Given the description of an element on the screen output the (x, y) to click on. 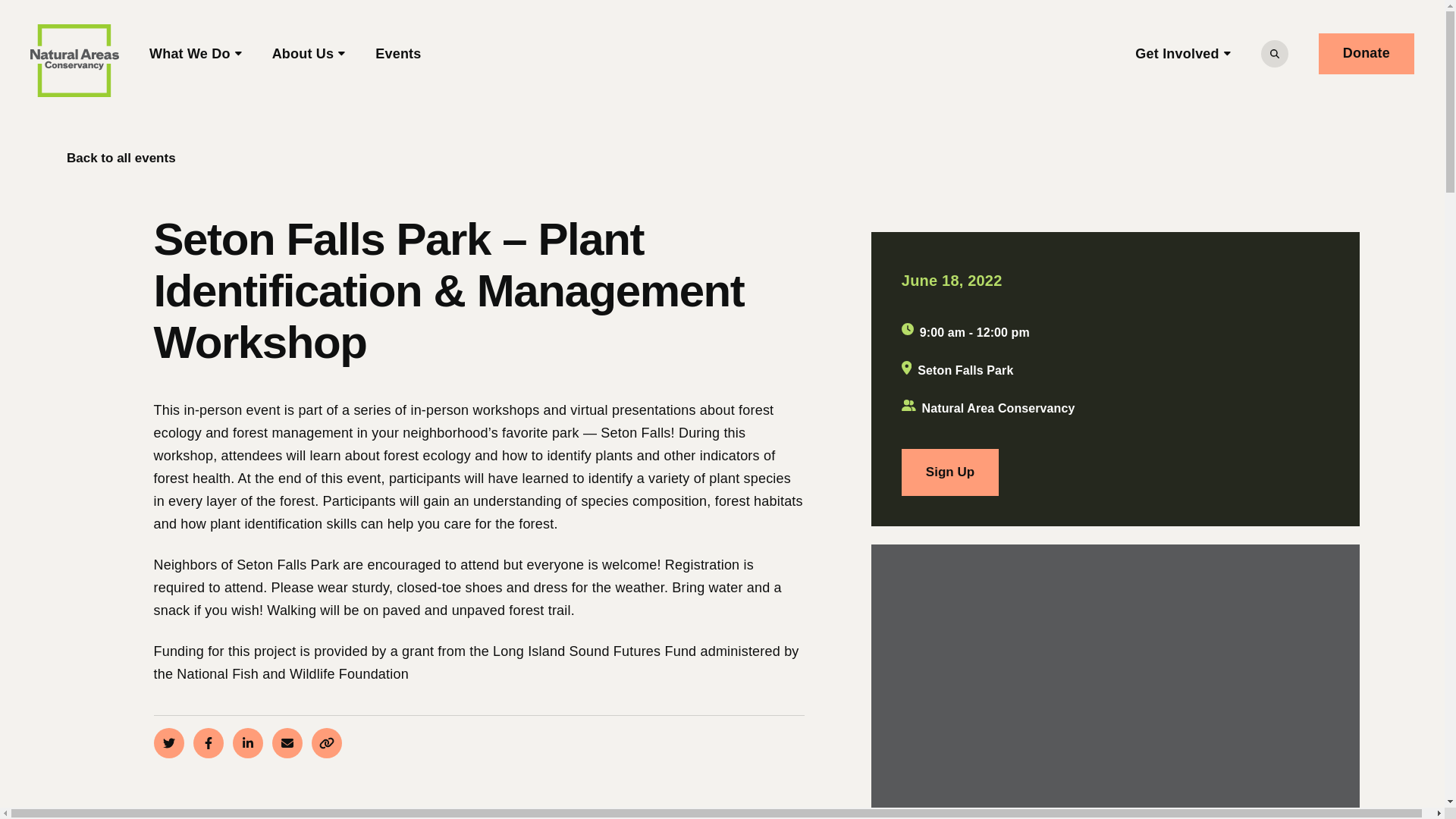
Events (397, 53)
What We Do (195, 53)
Back to all events (109, 158)
Donate (1366, 53)
Sign Up (949, 472)
About Us (309, 53)
Get Involved (1182, 53)
